Given the description of an element on the screen output the (x, y) to click on. 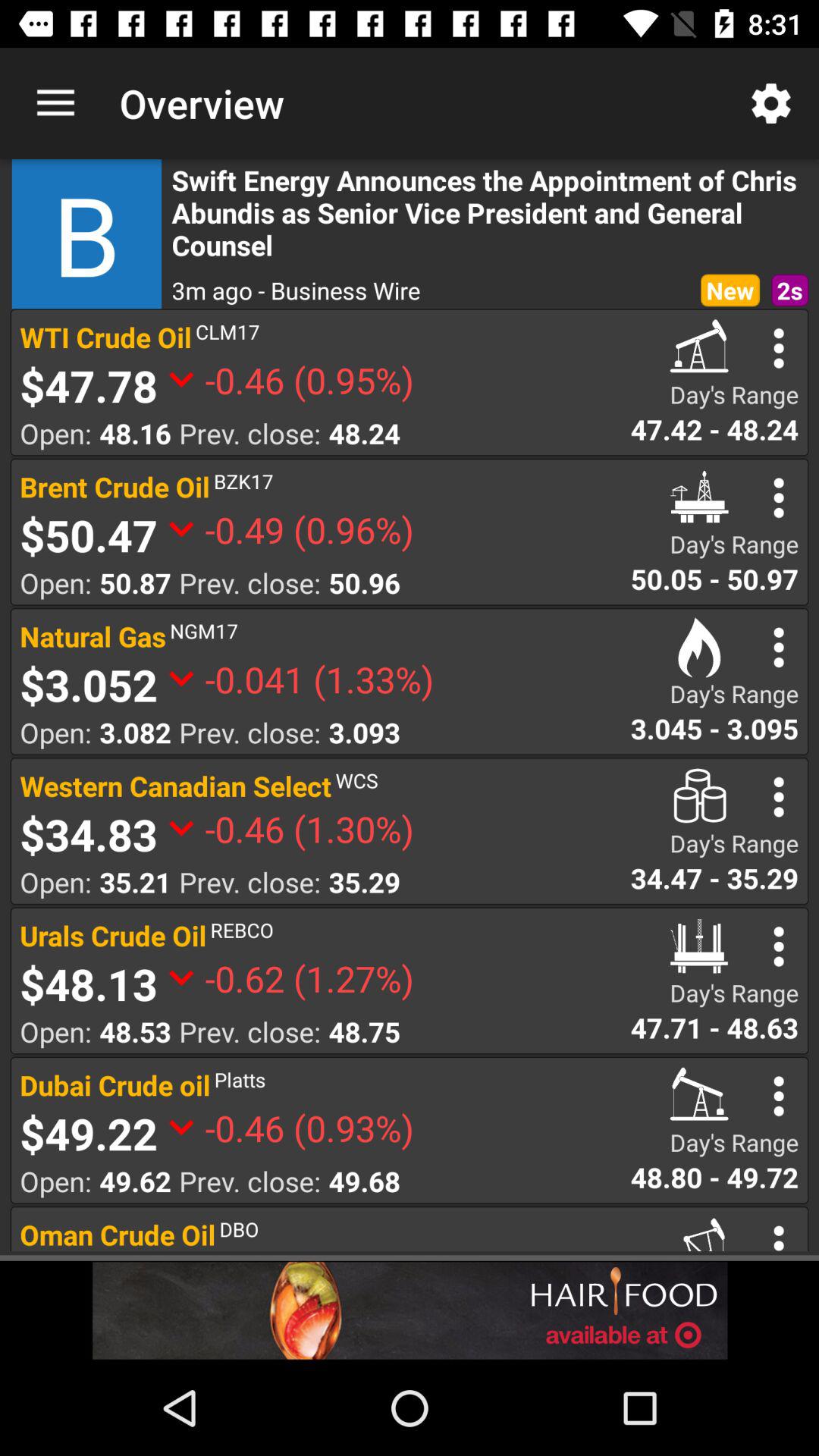
advertisement bar (409, 1310)
